Given the description of an element on the screen output the (x, y) to click on. 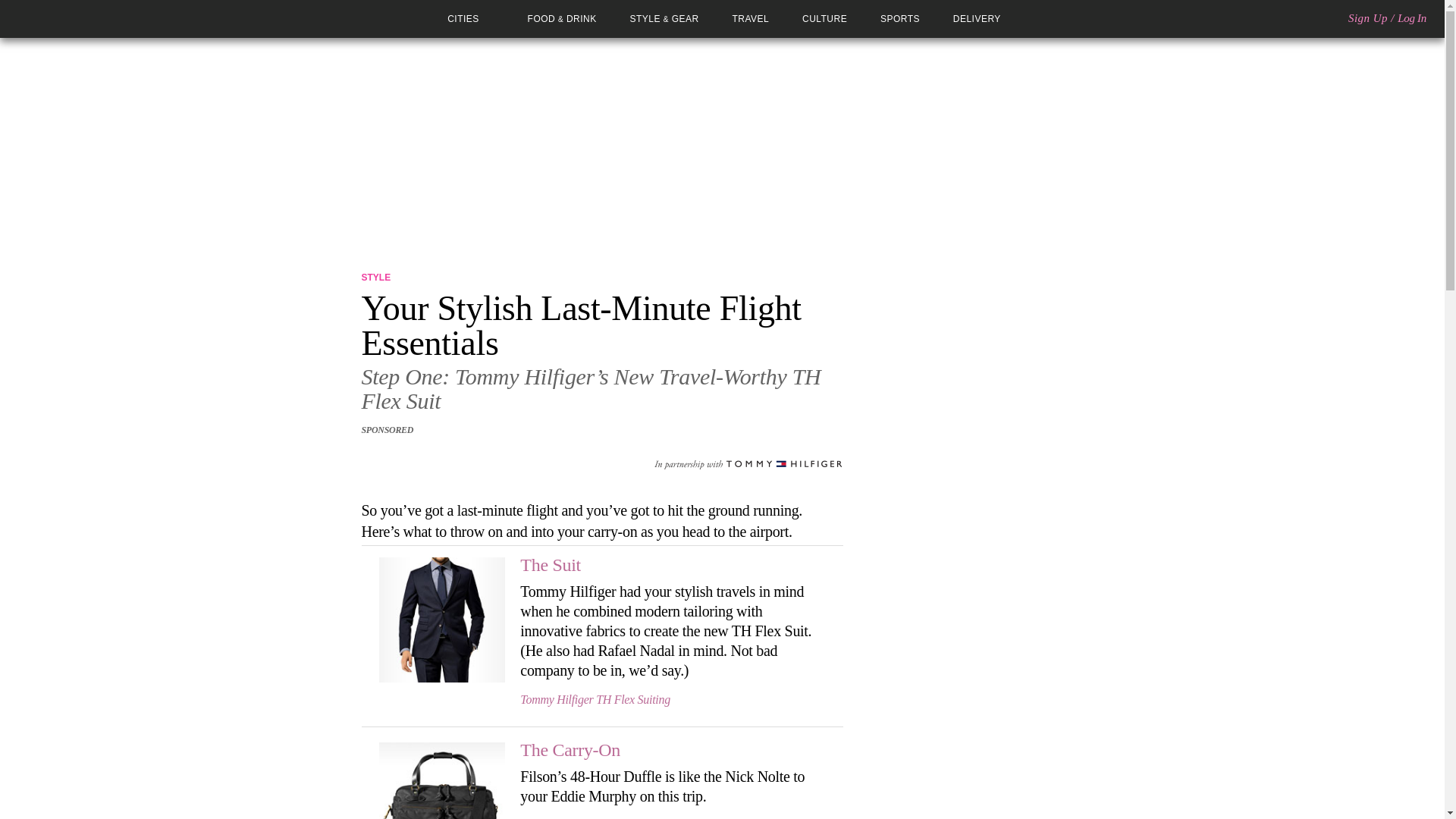
UrbanDaddy (67, 18)
Pinterest (414, 459)
DELIVERY (977, 18)
The Carry-On (569, 750)
Sign Up (1367, 18)
Log In (1411, 18)
CULTURE (824, 18)
The Suit (549, 564)
TRAVEL (751, 18)
